Given the description of an element on the screen output the (x, y) to click on. 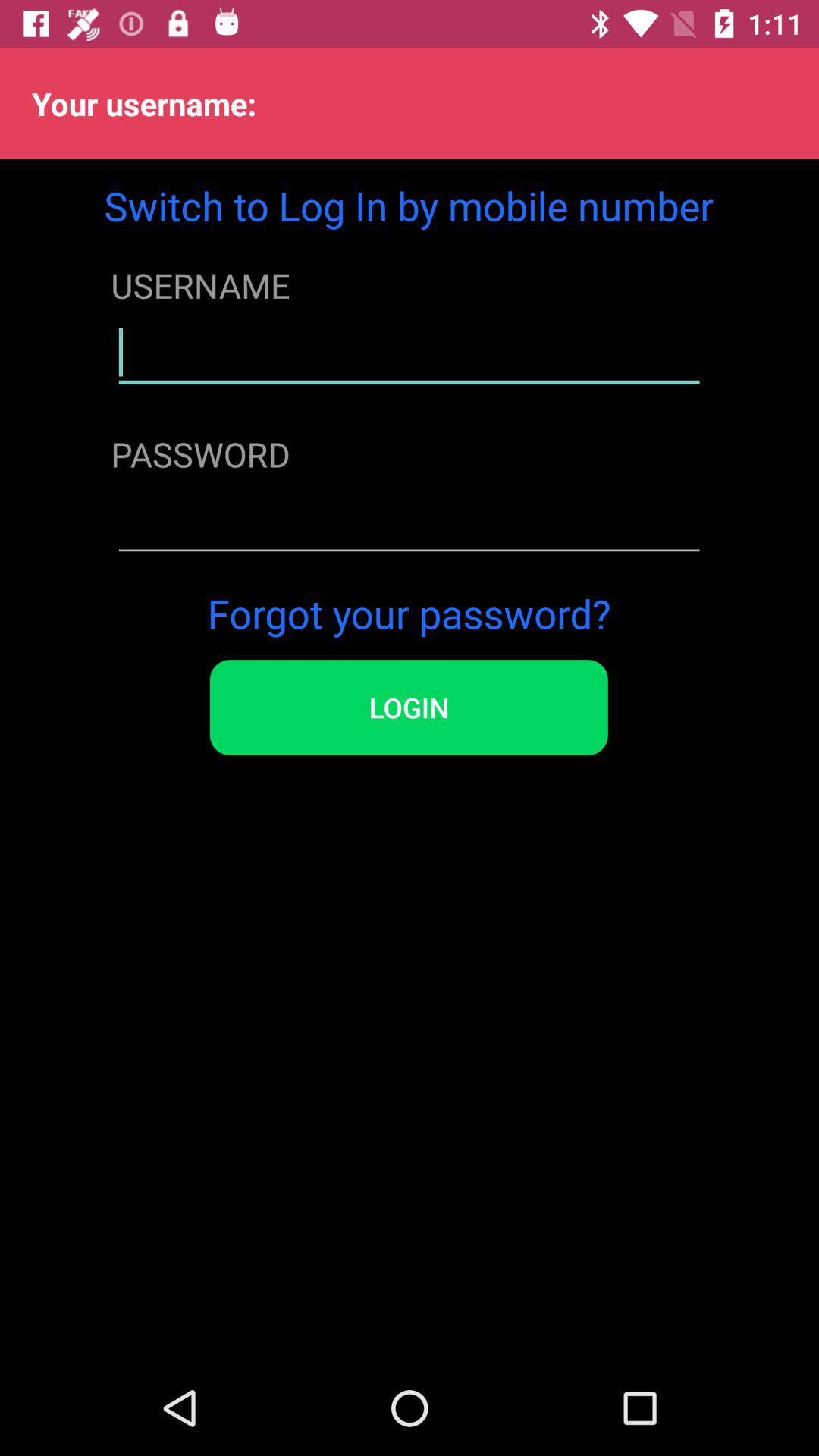
swipe until forgot your password? item (408, 612)
